Given the description of an element on the screen output the (x, y) to click on. 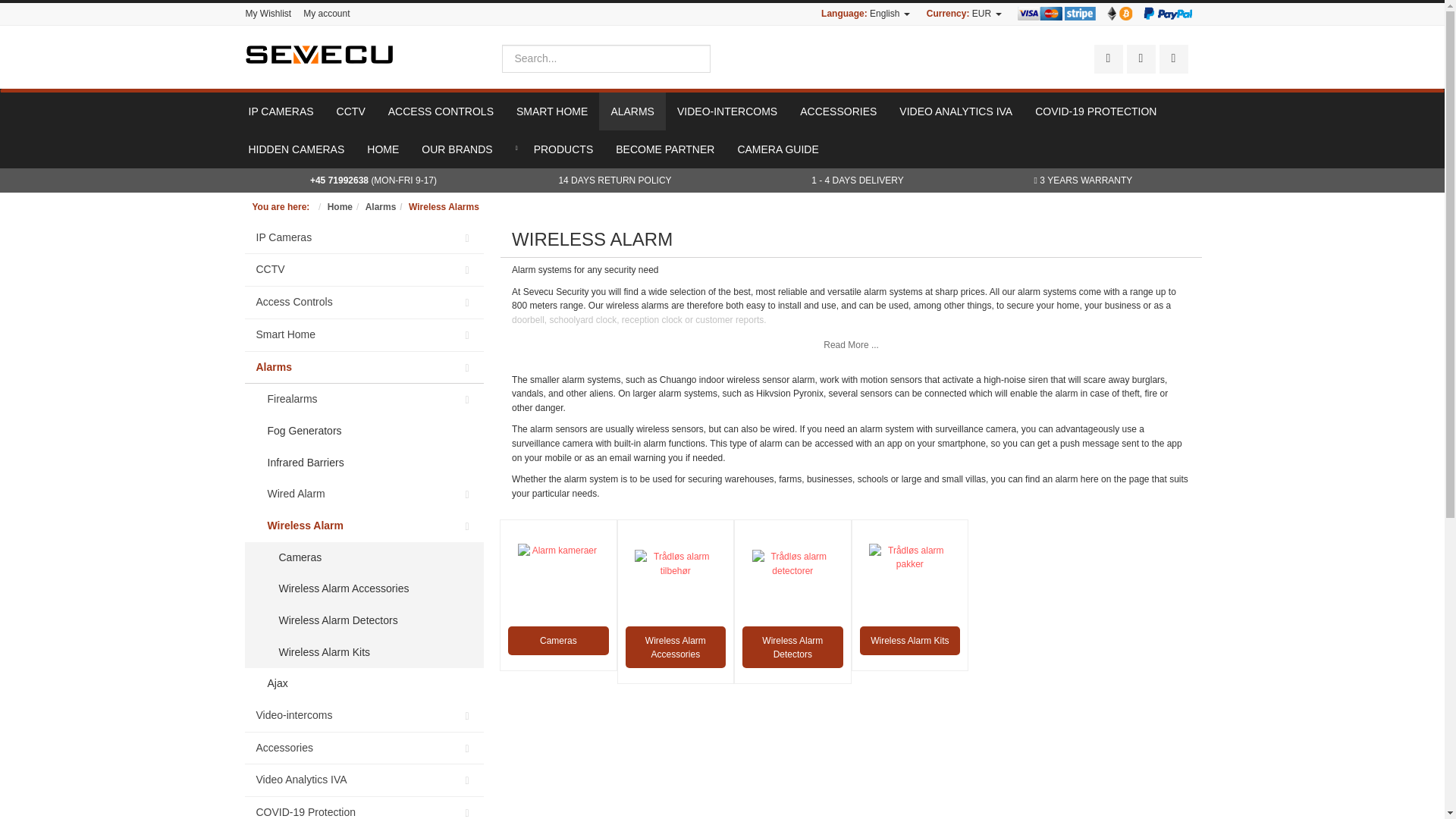
ALARMS (631, 111)
My Wishlist (272, 13)
BECOME PARTNER (664, 149)
VIDEO-INTERCOMS (727, 111)
COVID-19 PROTECTION (1095, 111)
My account (323, 13)
Cameras (558, 642)
VIDEO ANALYTICS IVA (955, 111)
CAMERA GUIDE (777, 149)
PRODUCTS (554, 149)
